Given the description of an element on the screen output the (x, y) to click on. 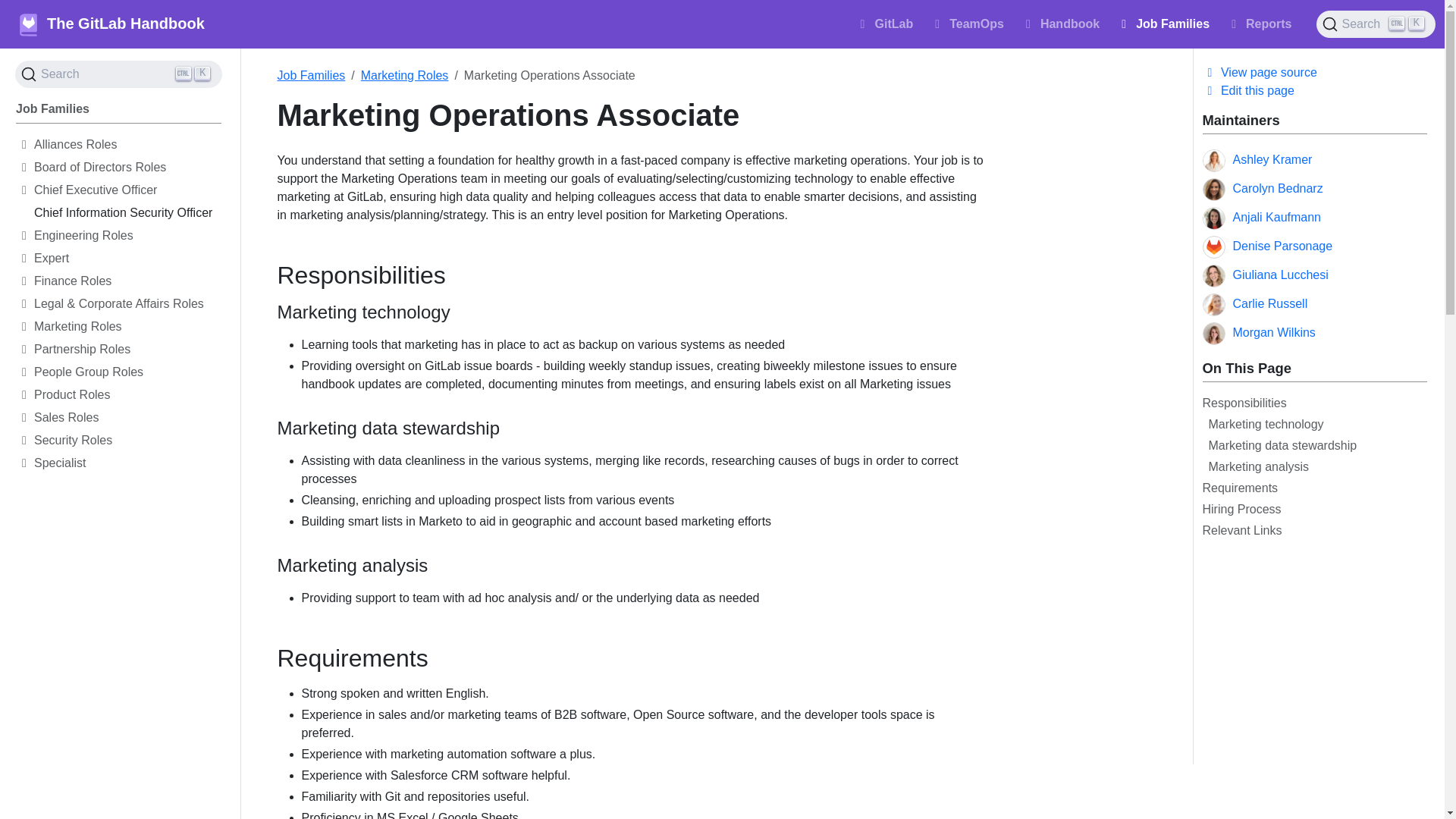
Chief Information Security Officer (127, 214)
Job Families (1077, 24)
Engineering Roles (1163, 24)
GitLab (127, 237)
TeamOps (885, 24)
Alliances Roles (967, 24)
Chief Executive Officer (127, 146)
Job Families (1375, 23)
Board of Directors Roles (118, 73)
Handbook (127, 191)
Reports (118, 111)
